Given the description of an element on the screen output the (x, y) to click on. 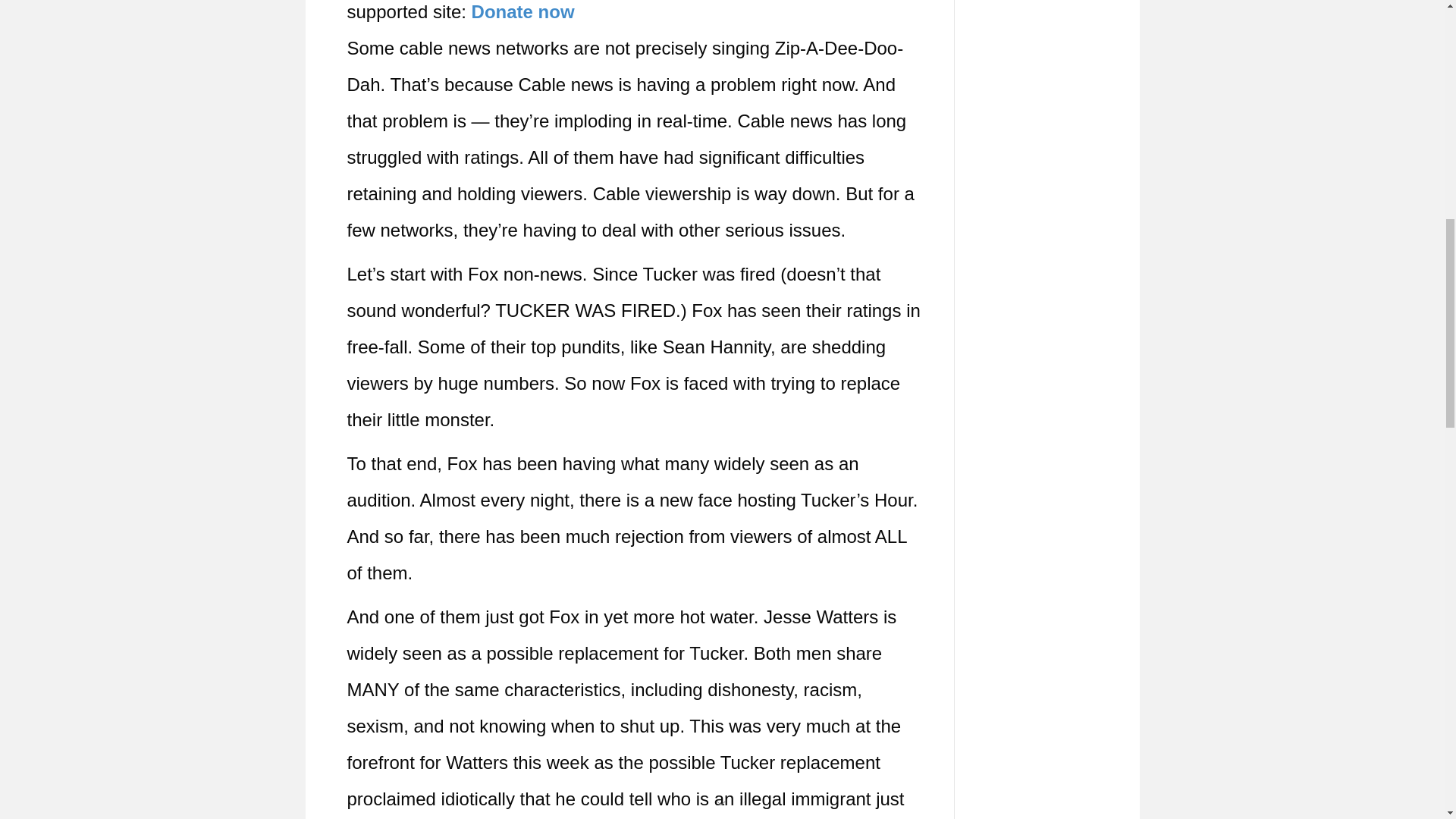
Donate now (523, 11)
